Given the description of an element on the screen output the (x, y) to click on. 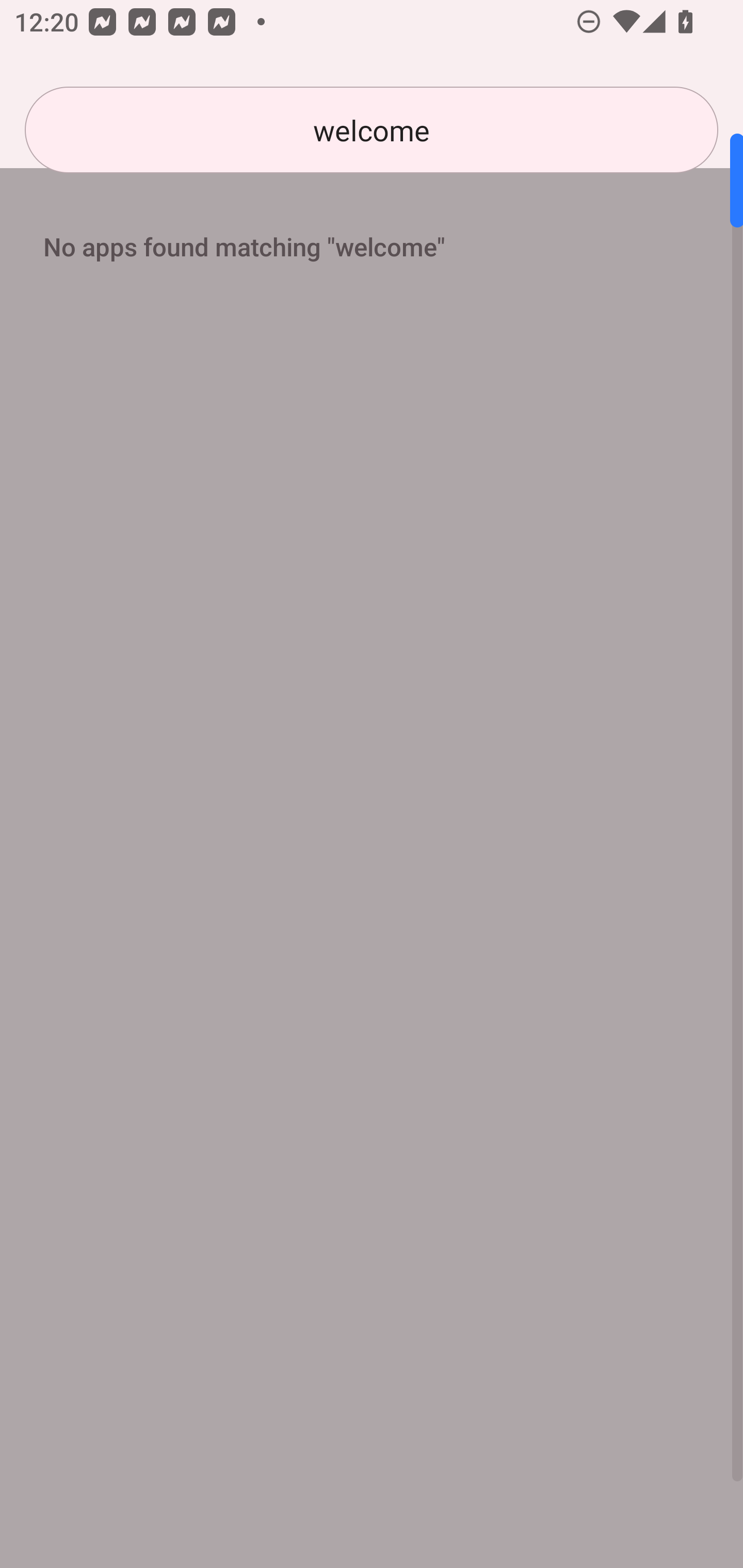
welcome (371, 130)
